Given the description of an element on the screen output the (x, y) to click on. 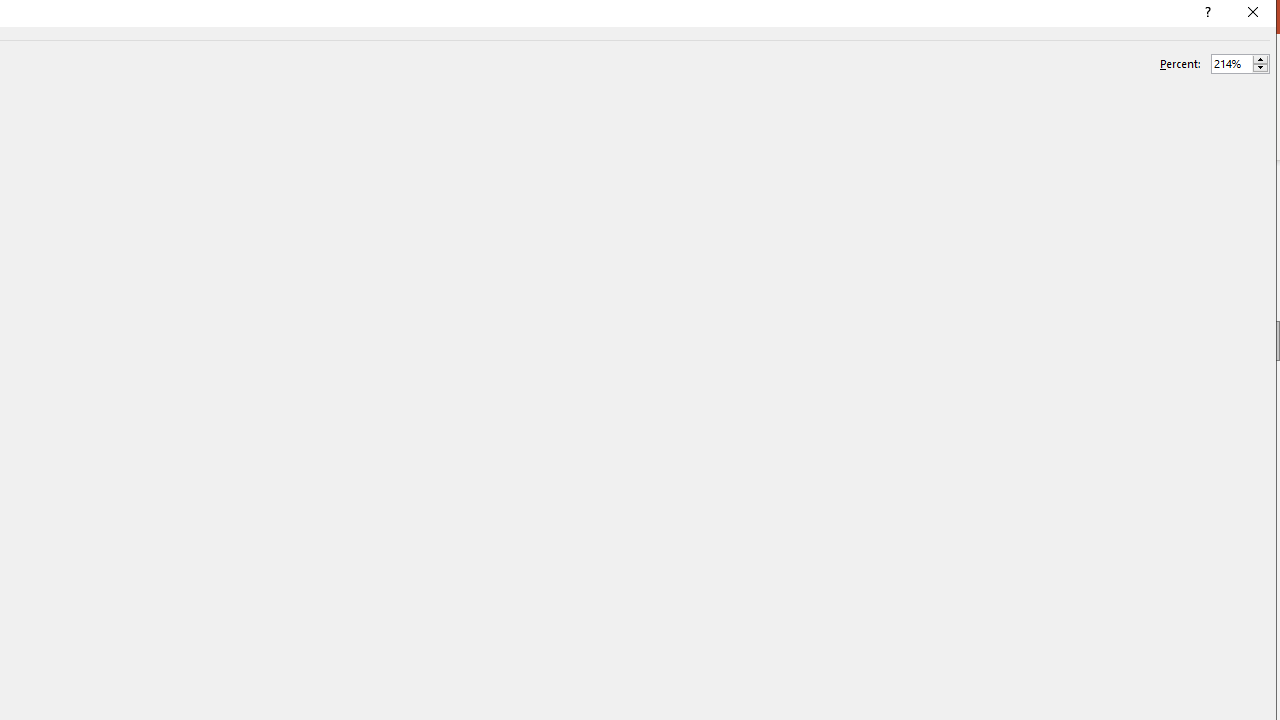
Less (1259, 68)
Context help (1206, 14)
More (1259, 59)
Percent (1239, 64)
Percent (1231, 63)
